Given the description of an element on the screen output the (x, y) to click on. 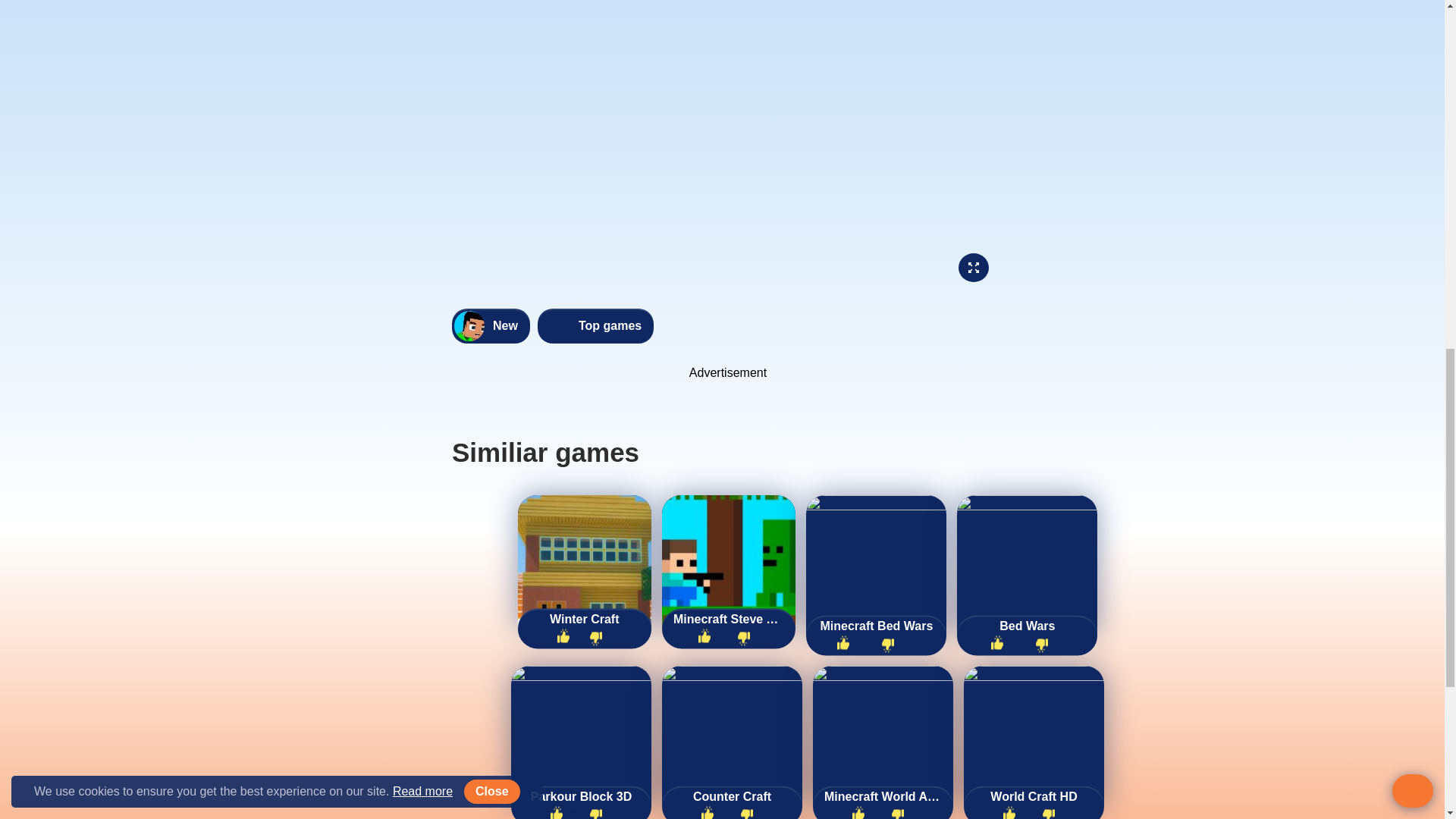
Top games (595, 325)
Minecraft Steve Adventures (728, 619)
Counter Craft (731, 796)
Parkour Block 3D (581, 796)
World Craft HD (1034, 796)
Minecraft Bed Wars (875, 626)
Minecraft World Adventure (883, 796)
Bed Wars (1027, 626)
6 (568, 637)
Winter Craft (584, 619)
